Given the description of an element on the screen output the (x, y) to click on. 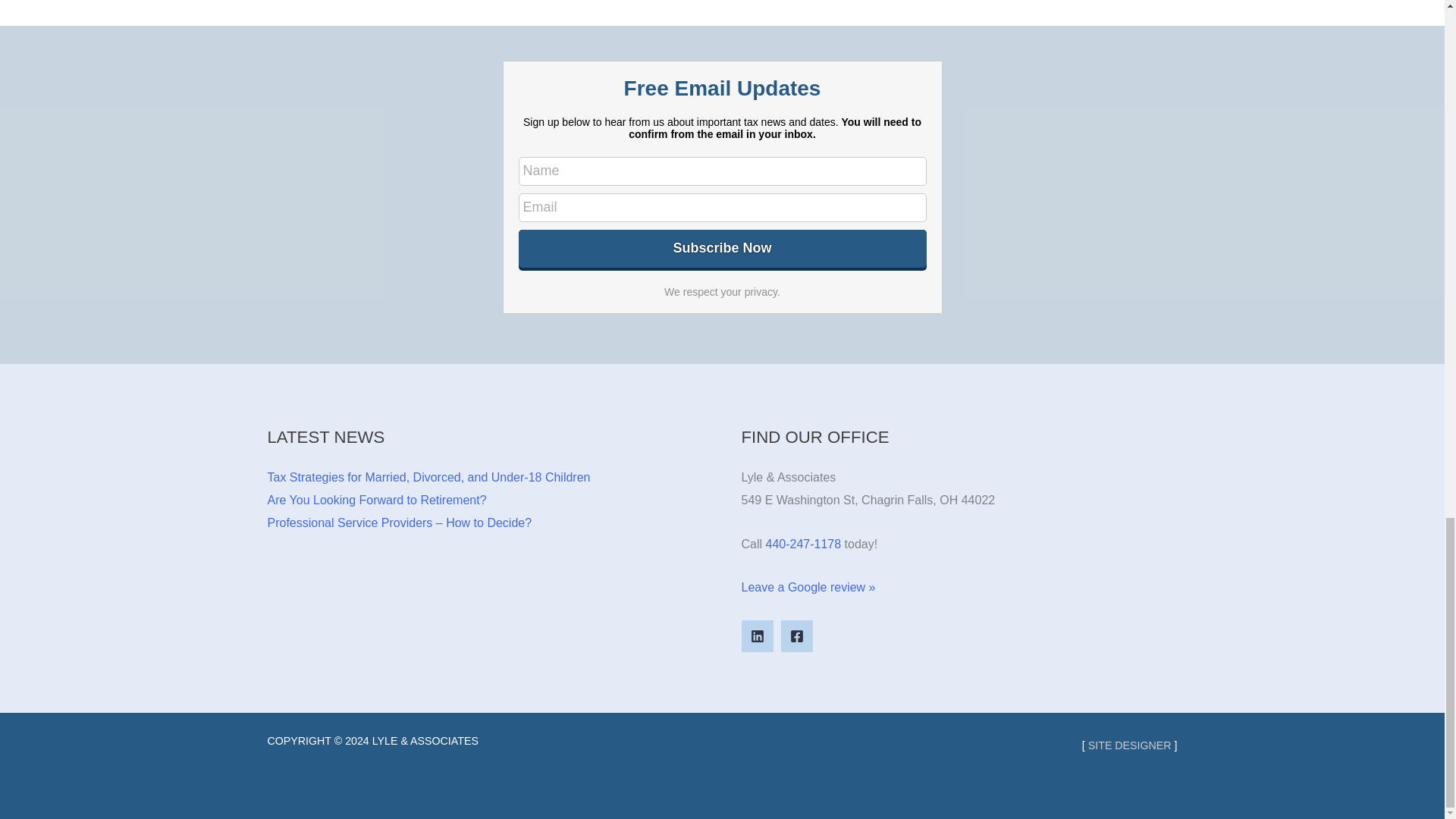
Subscribe Now (722, 248)
